Given the description of an element on the screen output the (x, y) to click on. 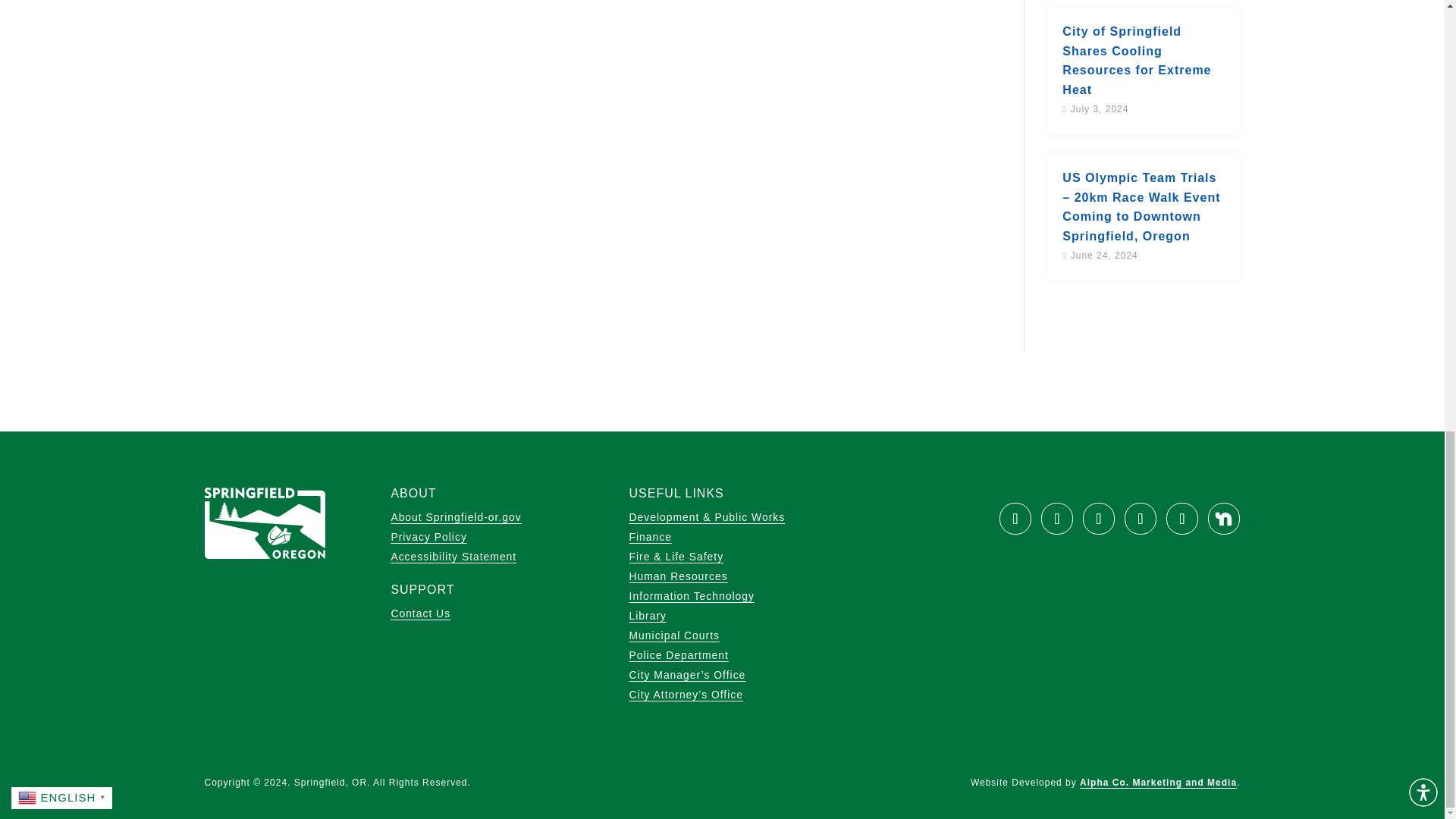
Follow on Instagram (1140, 518)
logo-SpringfieldOregon-white (264, 522)
Follow on X (1057, 518)
Follow on LinkedIn (1182, 518)
Follow on Youtube (1099, 518)
Follow on Facebook (1014, 518)
Follow on Nextdoor (1224, 518)
Alpha Co. Marketing and Media (1158, 782)
